Given the description of an element on the screen output the (x, y) to click on. 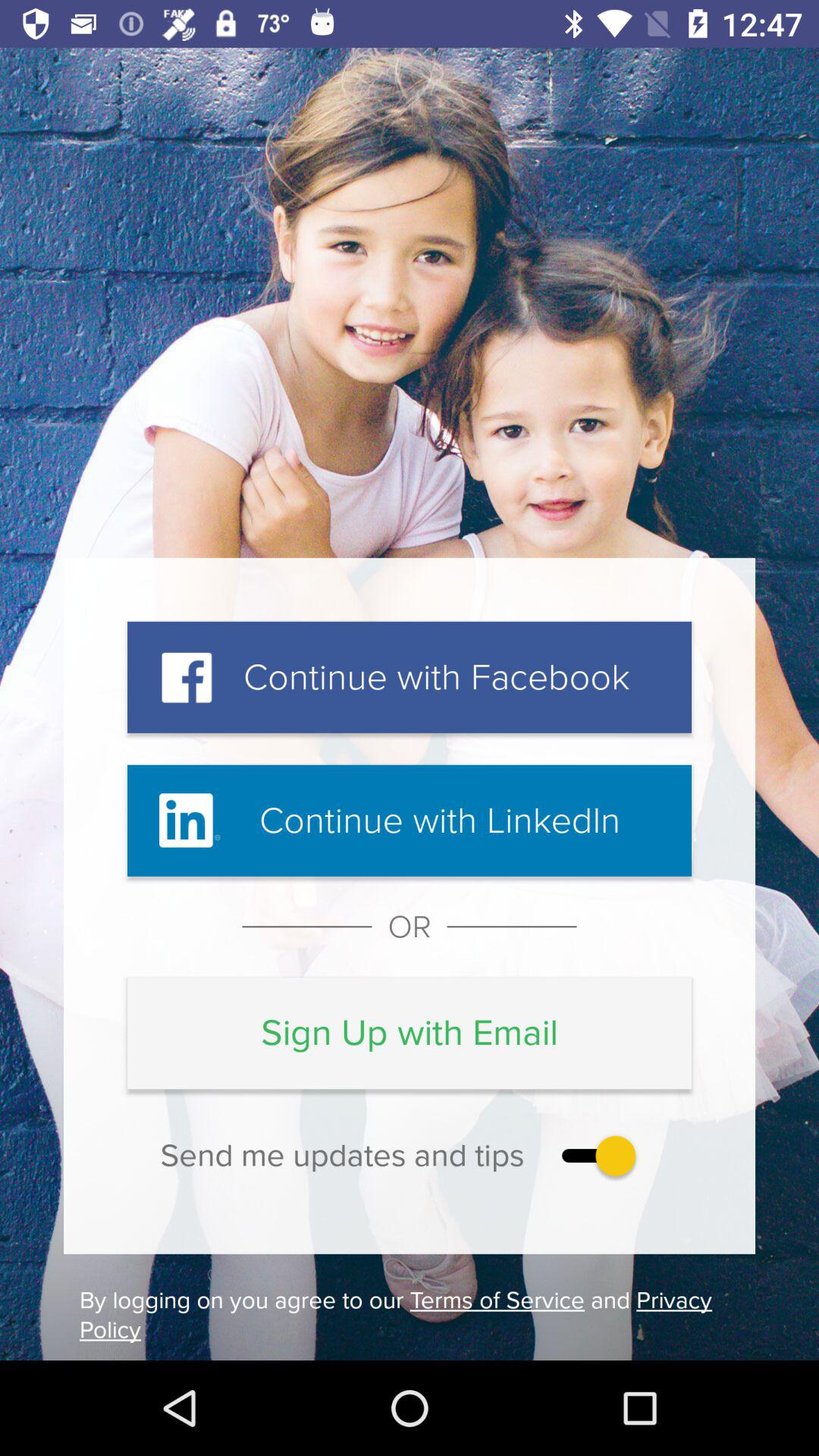
choose the item above the by logging on icon (595, 1155)
